Given the description of an element on the screen output the (x, y) to click on. 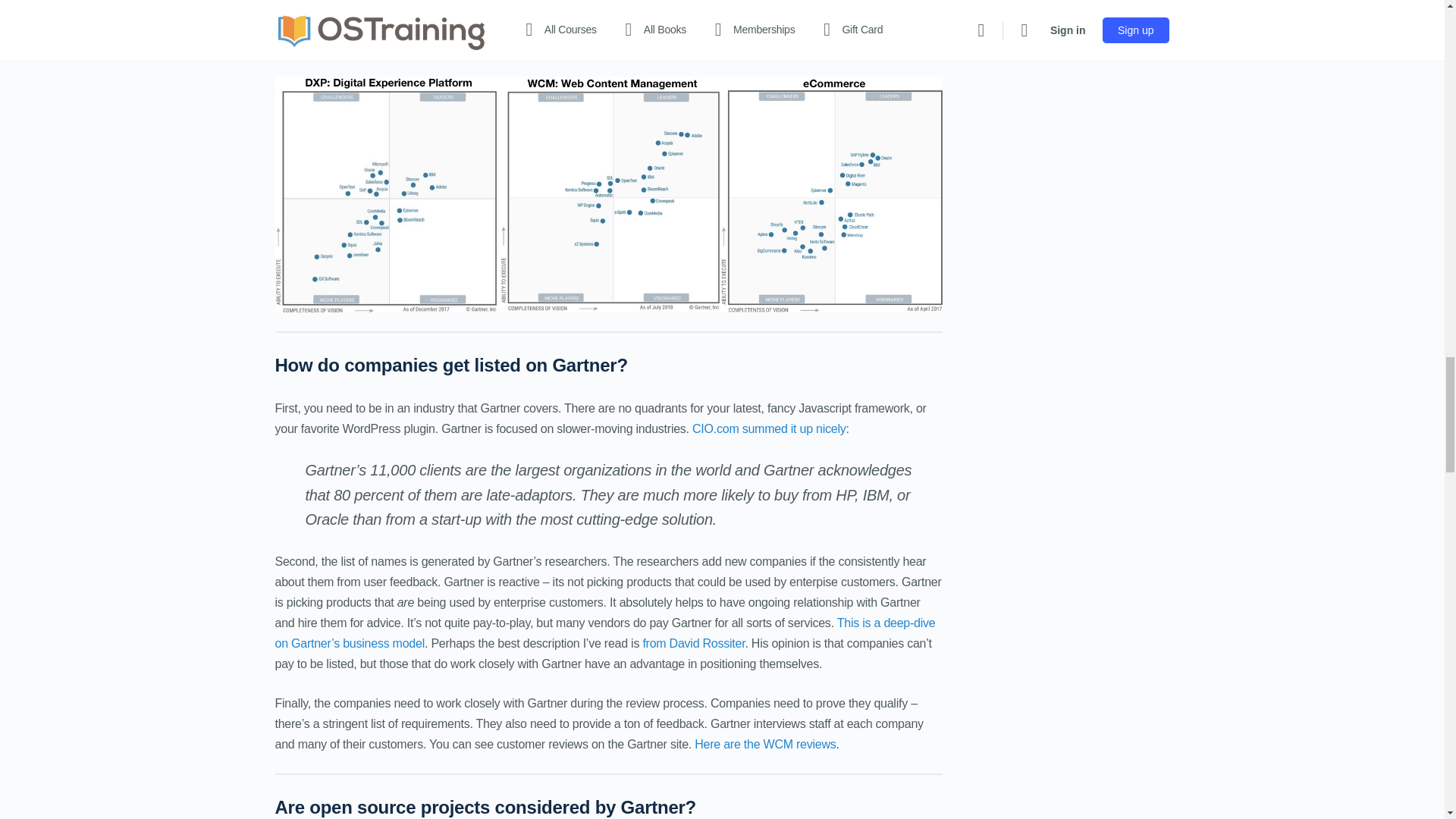
from David Rossiter (693, 643)
CIO.com summed it up nicely (769, 428)
Click here for a larger version of the image (714, 47)
Here are the WCM reviews (764, 744)
